Given the description of an element on the screen output the (x, y) to click on. 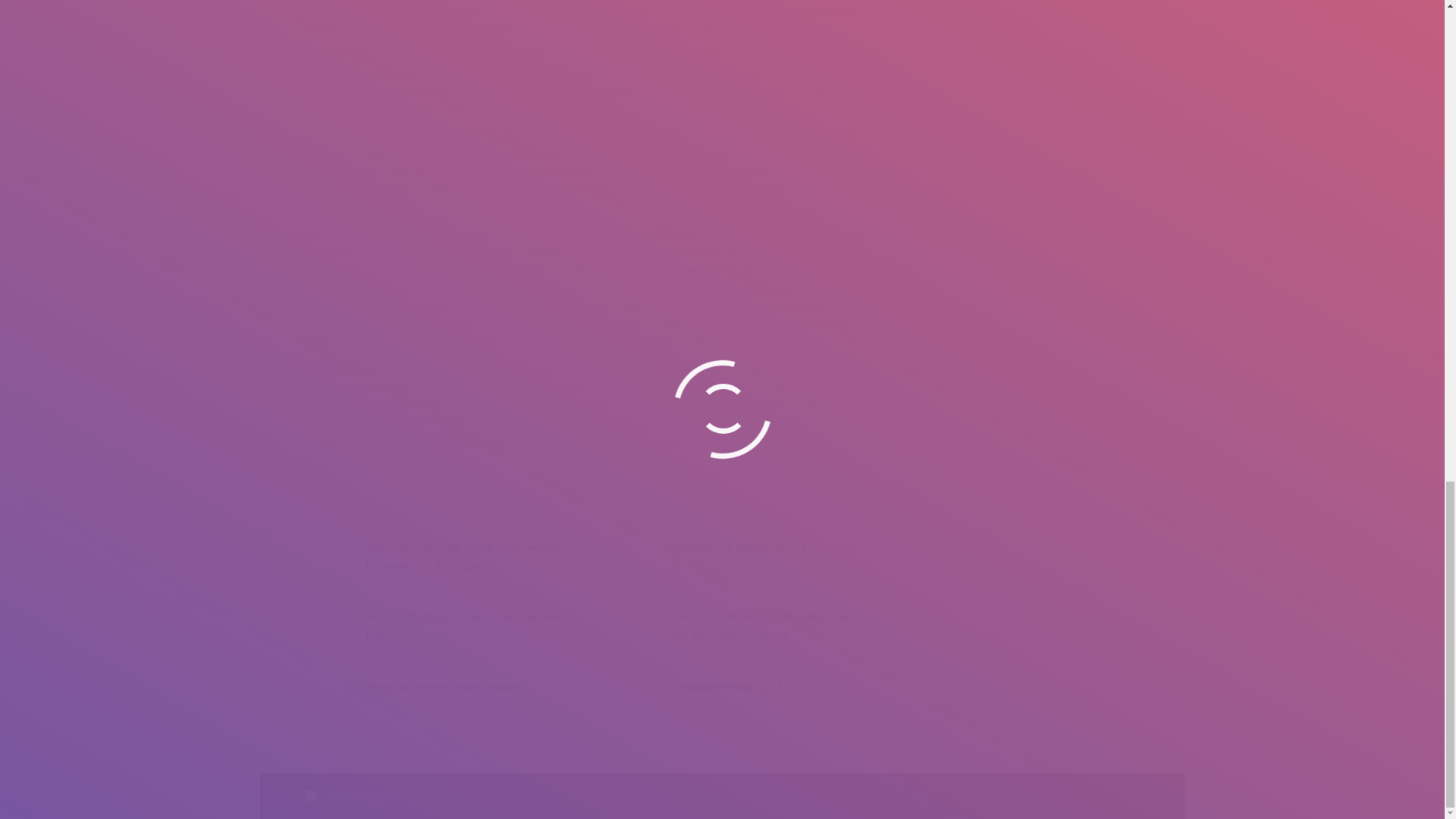
No-Fuss Methods For Meet Local Women Frees (470, 626)
Jerkmate Is A Bogus Jerk Off Cam Site! (762, 547)
Malaysian Women Face Features (444, 687)
Streamate Review 2021 (726, 687)
